Given the description of an element on the screen output the (x, y) to click on. 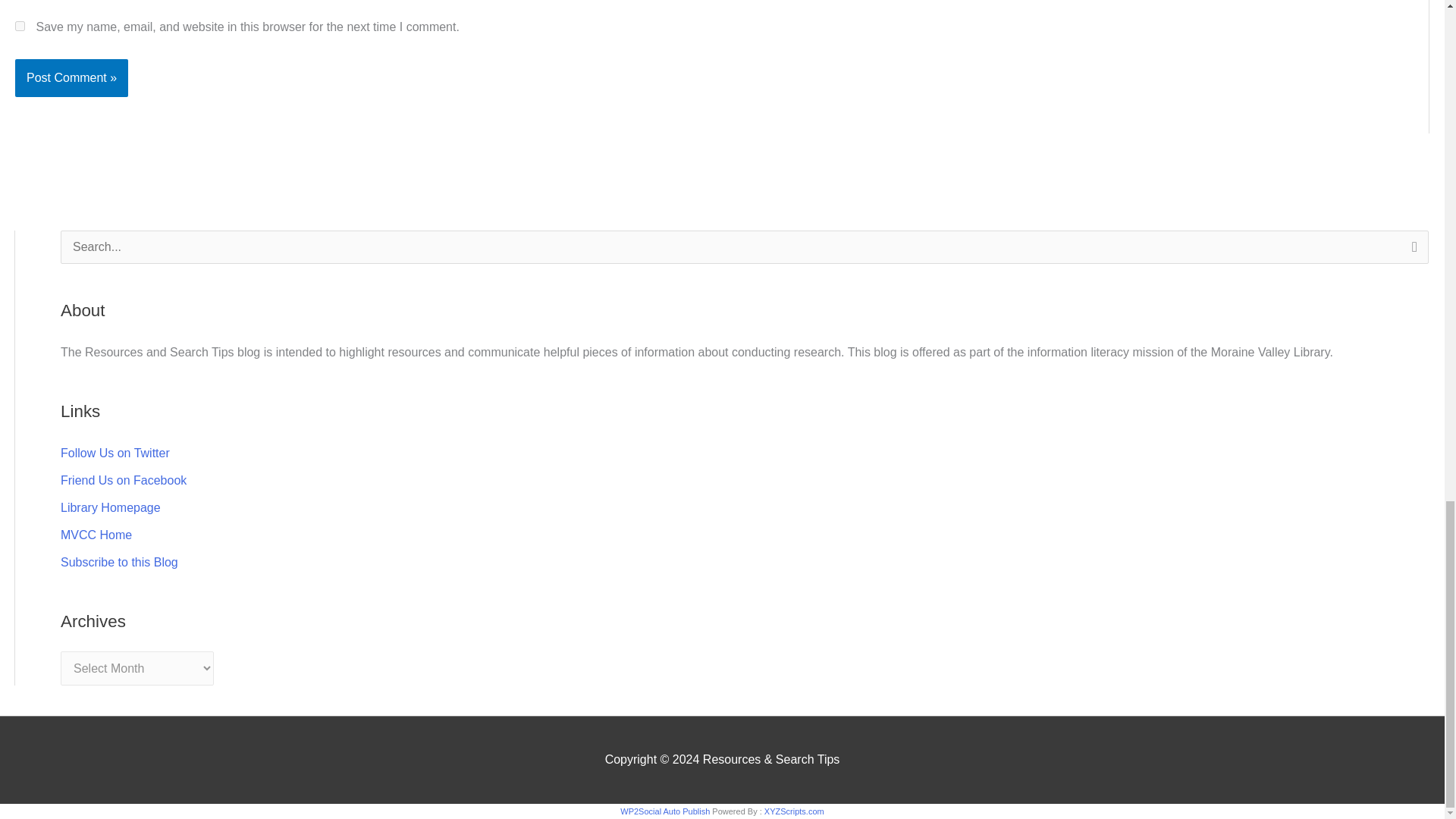
Subscribe to this Blog (119, 562)
WP2Social Auto Publish (665, 810)
yes (19, 26)
WP2Social Auto Publish (665, 810)
XYZScripts.com (794, 810)
Library Homepage (110, 507)
Follow Us on Twitter (115, 452)
Moraine Valley Library on Twitter (115, 452)
MVCC Home (96, 534)
Moraine Valley Library on Facebook (123, 480)
